Given the description of an element on the screen output the (x, y) to click on. 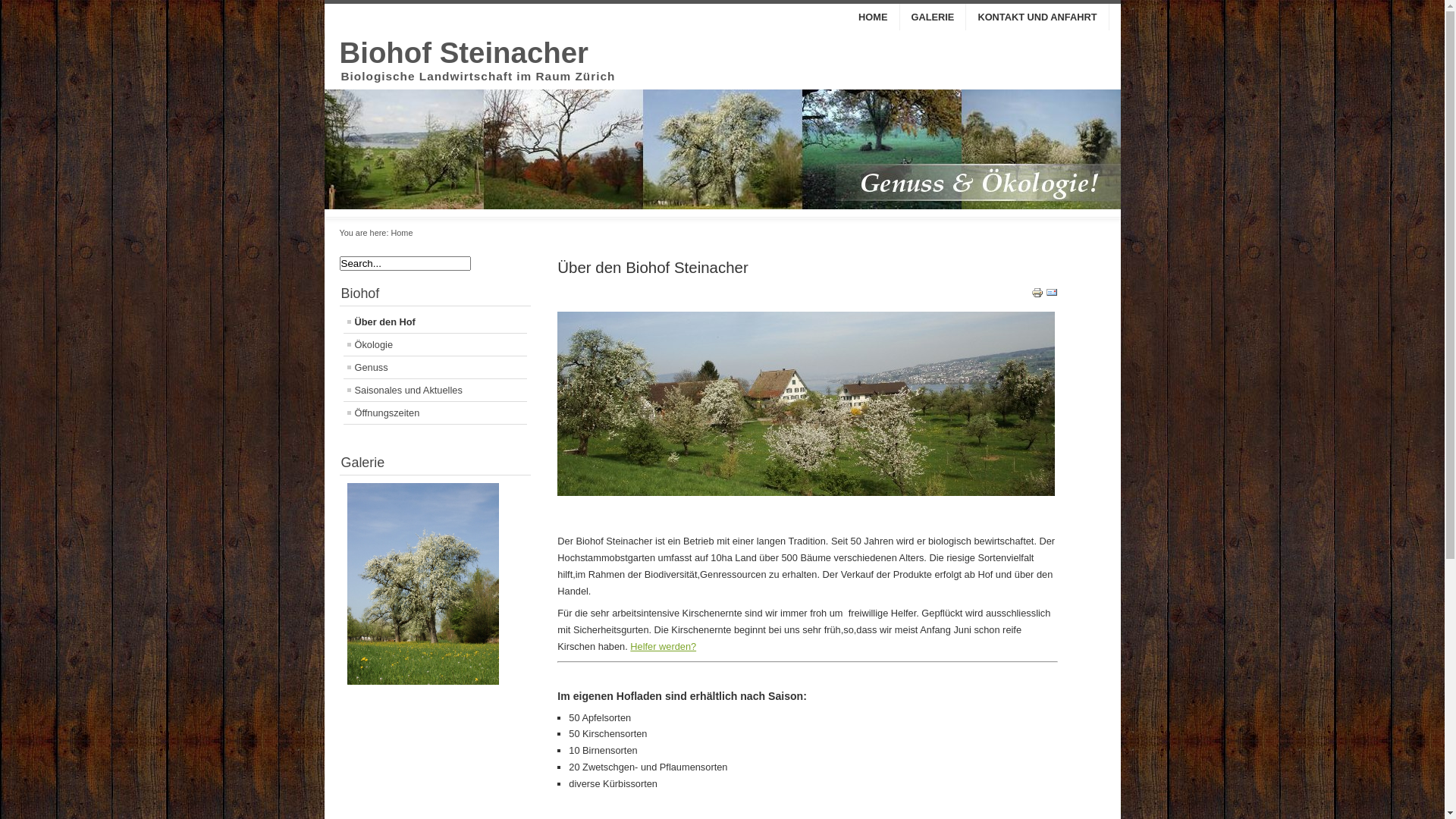
GALERIE Element type: text (932, 16)
HOME Element type: text (873, 16)
Genuss Element type: text (434, 367)
Helfer werden? Element type: text (663, 646)
KONTAKT UND ANFAHRT Element type: text (1037, 16)
Print Element type: hover (1037, 295)
Saisonales und Aktuelles Element type: text (434, 390)
Email Element type: hover (1051, 295)
